Given the description of an element on the screen output the (x, y) to click on. 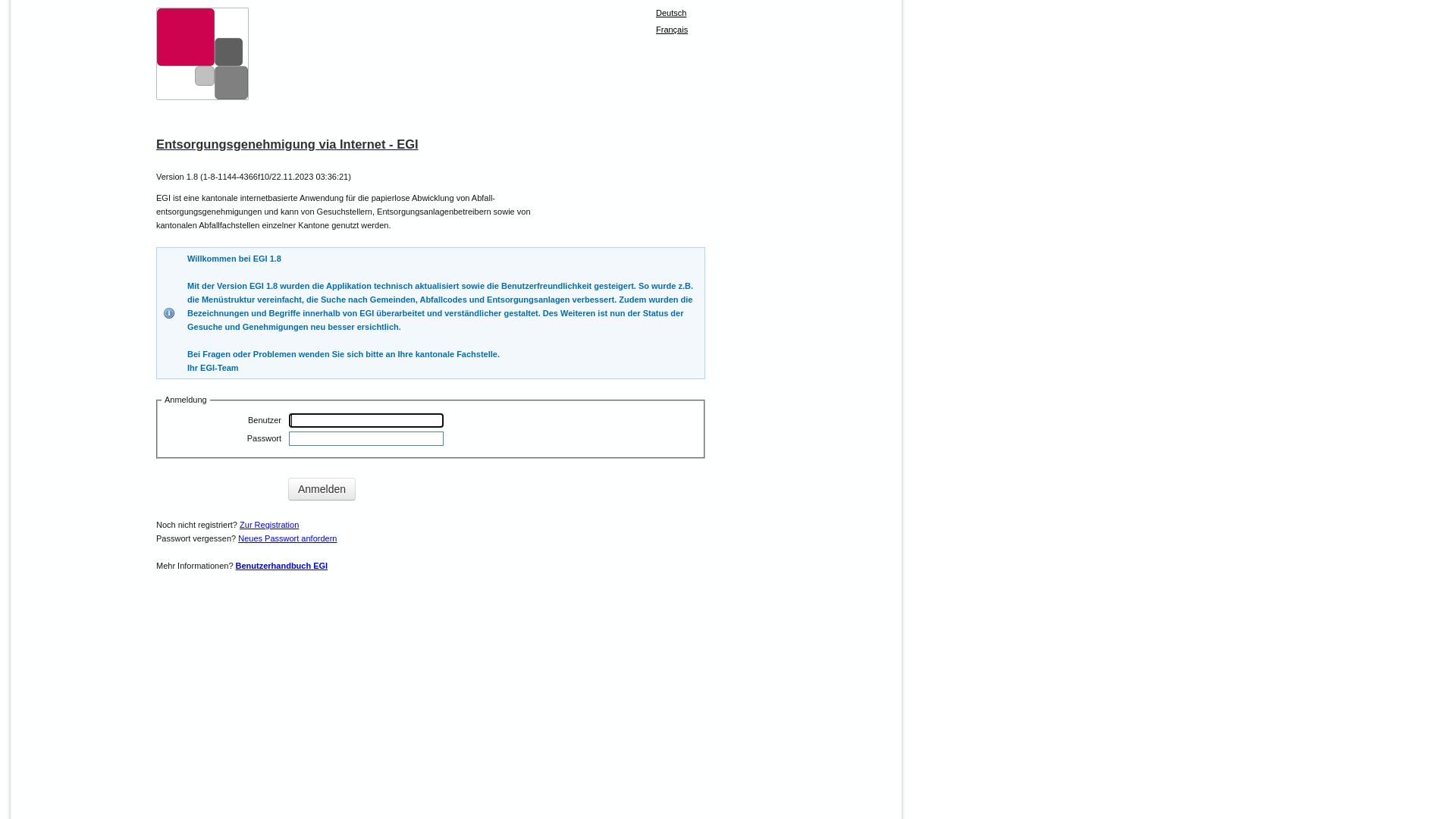
Benutzerhandbuch EGI Element type: text (281, 565)
Anmelden Element type: text (321, 488)
Neues Passwort anfordern Element type: text (287, 537)
Deutsch Element type: text (670, 12)
Zur Registration Element type: text (268, 524)
Entsorgungsgenehmigung via Internet - EGI Element type: text (430, 143)
